Given the description of an element on the screen output the (x, y) to click on. 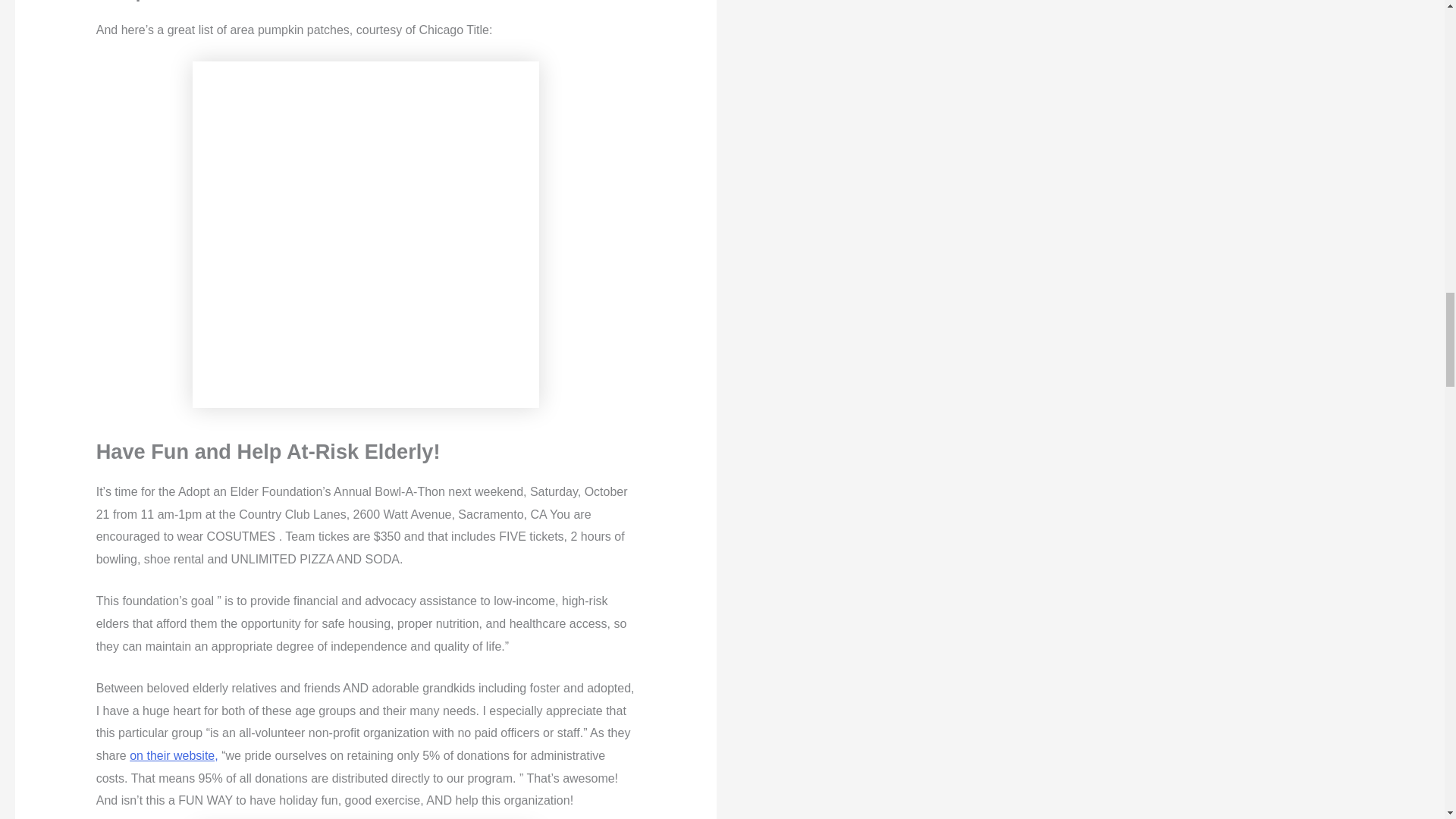
on their website, (173, 755)
